Given the description of an element on the screen output the (x, y) to click on. 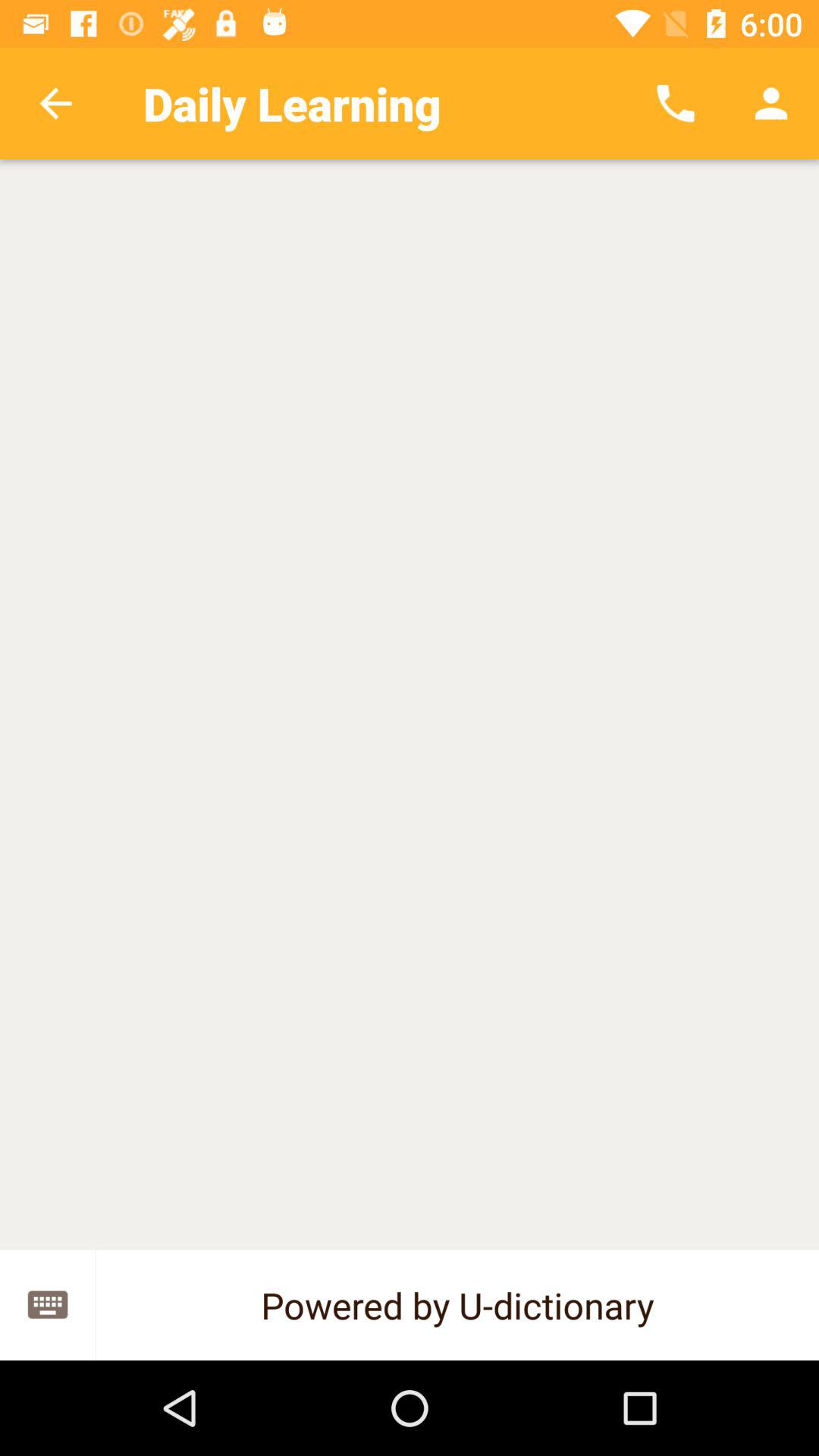
view keyboard (47, 1304)
